Given the description of an element on the screen output the (x, y) to click on. 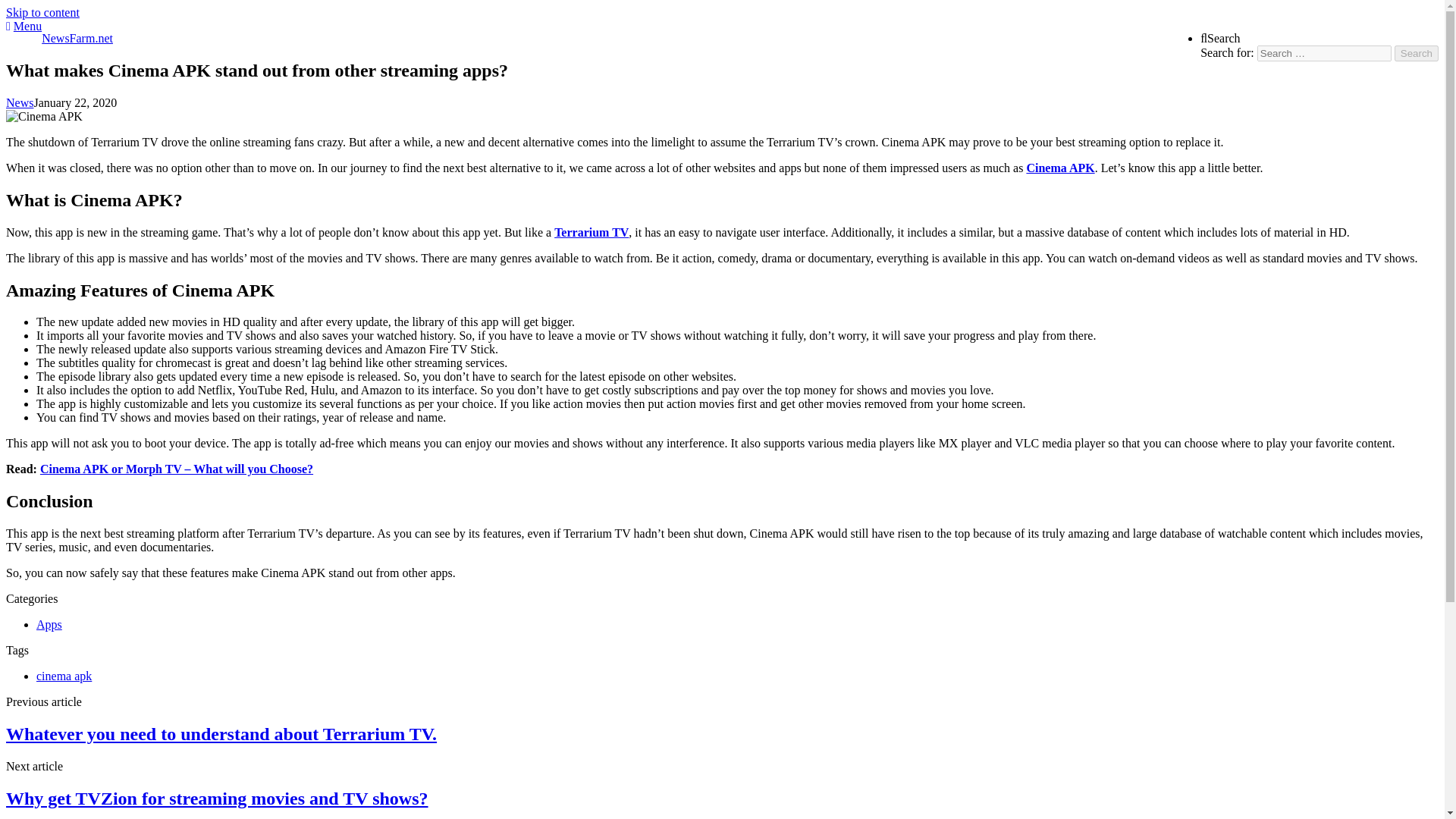
Terrarium TV (591, 232)
NewsFarm.net (77, 38)
News (19, 102)
Cinema APK (1060, 167)
Menu (27, 25)
Skip to content (42, 11)
Search (1219, 38)
Whatever you need to understand about Terrarium TV. (220, 733)
Apps (49, 624)
Why get TVZion for streaming movies and TV shows? (216, 798)
